Given the description of an element on the screen output the (x, y) to click on. 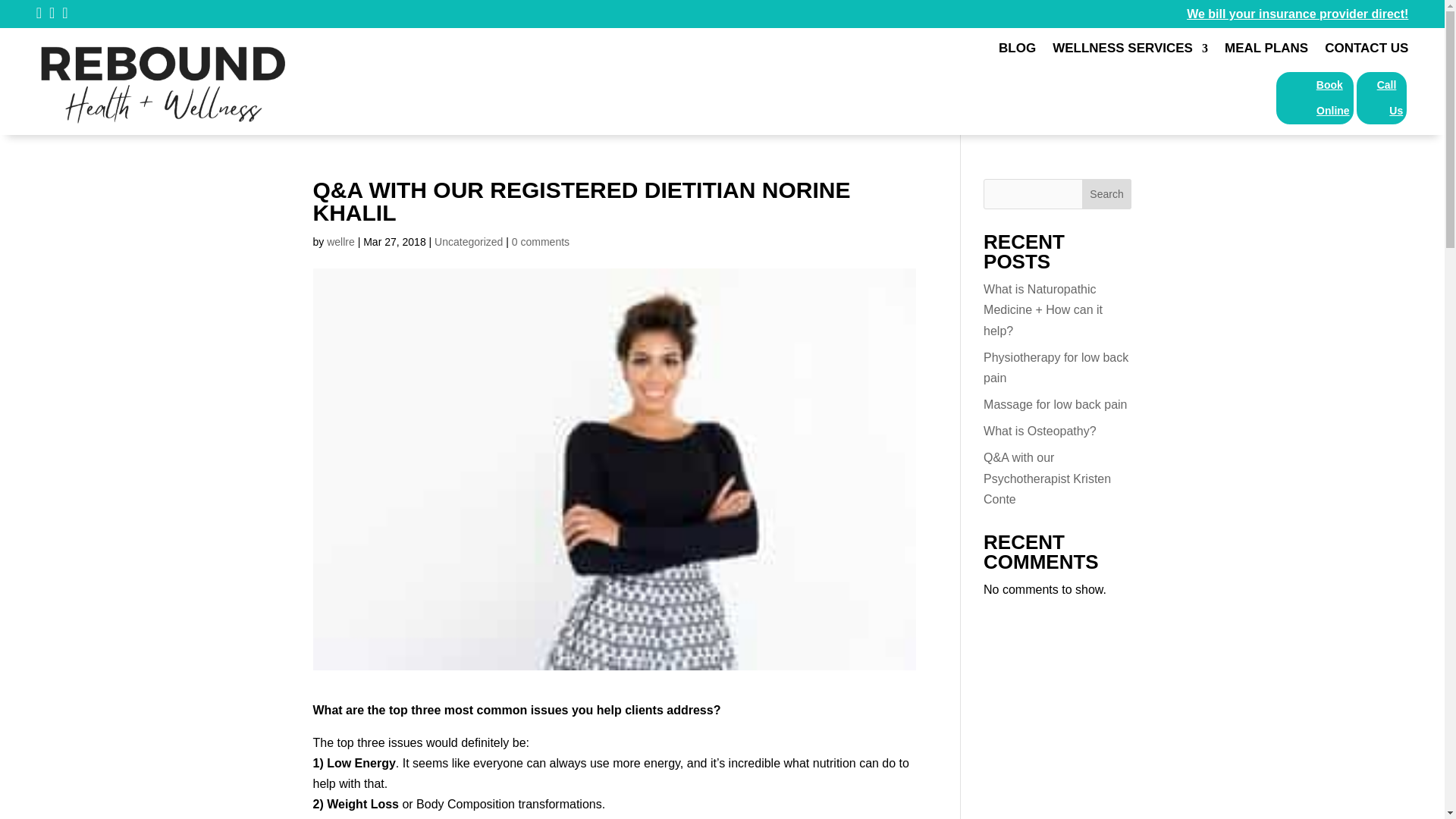
Posts by wellre (340, 241)
MEAL PLANS (1265, 51)
BLOG (1016, 51)
We bill your insurance provider direct! (1296, 13)
WELLNESS SERVICES (1130, 51)
CONTACT US (1365, 51)
